Given the description of an element on the screen output the (x, y) to click on. 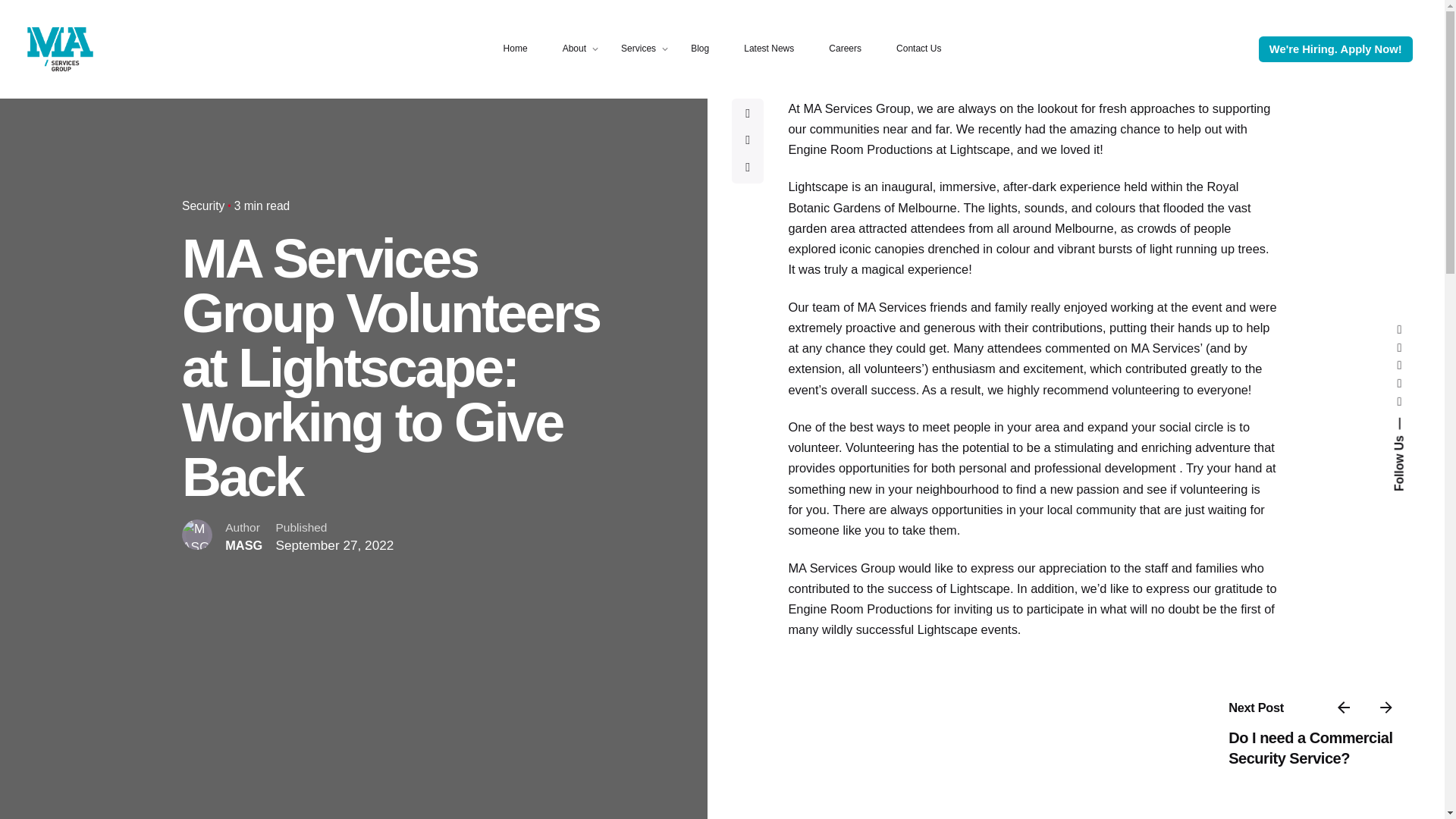
About (574, 49)
Services (638, 49)
Home (515, 49)
